Given the description of an element on the screen output the (x, y) to click on. 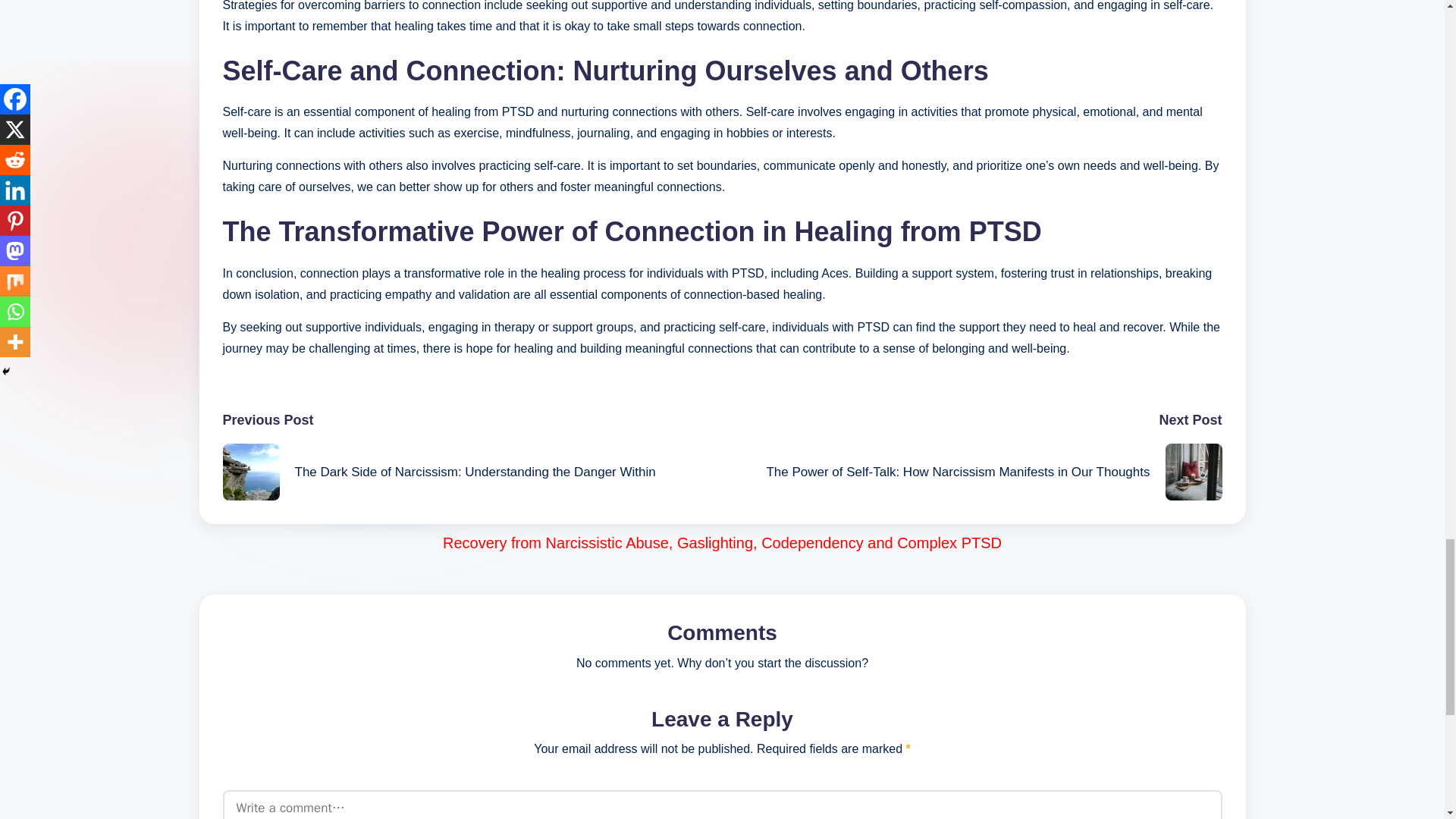
The Dark Side of Narcissism: Understanding the Danger Within (472, 471)
